Given the description of an element on the screen output the (x, y) to click on. 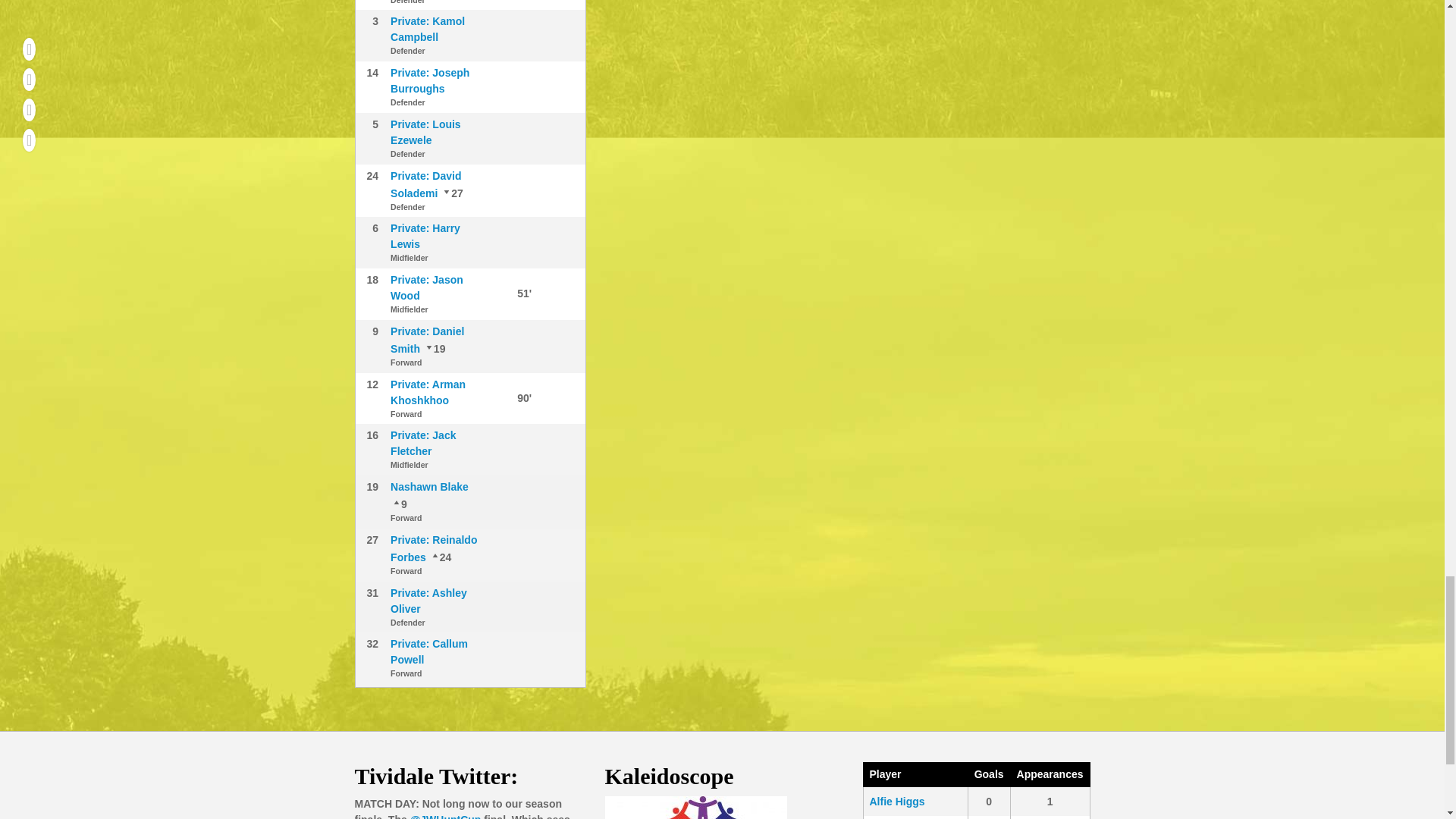
Nashawn Blake (434, 348)
Private: Kamol Campbell (427, 29)
Goal (506, 397)
Private: Louis Ezewele (425, 131)
JW Hunt Cup (445, 816)
Private: David Solademi (425, 184)
Goal (506, 293)
Private: Joseph Burroughs (429, 80)
Private: Jason Wood (426, 287)
